Given the description of an element on the screen output the (x, y) to click on. 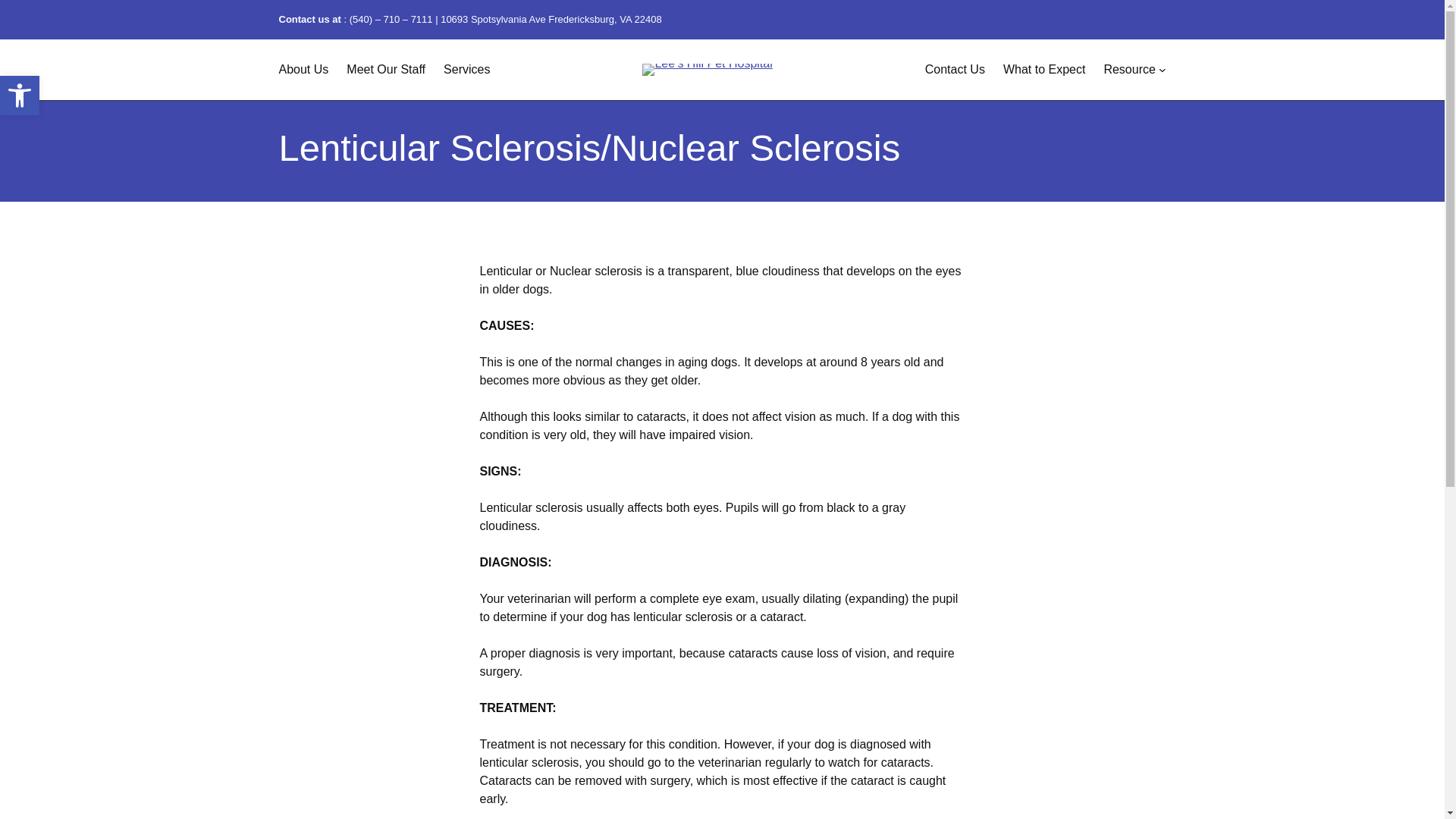
What to Expect (1044, 69)
Accessibility Tools (19, 95)
Services (466, 69)
Accessibility Tools (19, 95)
Resource (19, 95)
Contact Us (1128, 69)
Meet Our Staff (954, 69)
About Us (385, 69)
